Given the description of an element on the screen output the (x, y) to click on. 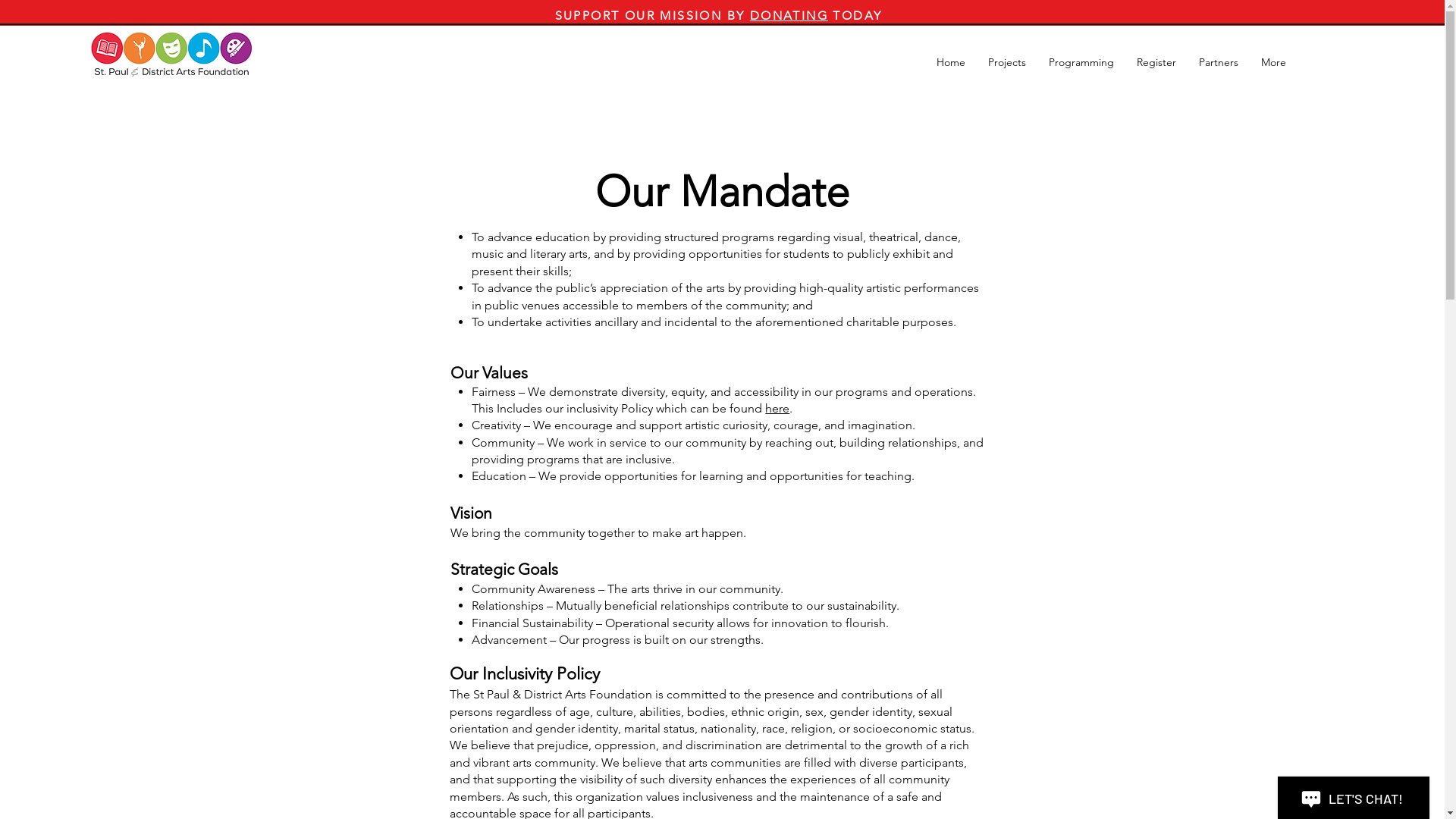
Home Element type: text (950, 62)
Register Element type: text (1156, 62)
here Element type: text (777, 408)
Programming Element type: text (1081, 62)
DONATING Element type: text (788, 15)
Partners Element type: text (1218, 62)
Projects Element type: text (1006, 62)
